Given the description of an element on the screen output the (x, y) to click on. 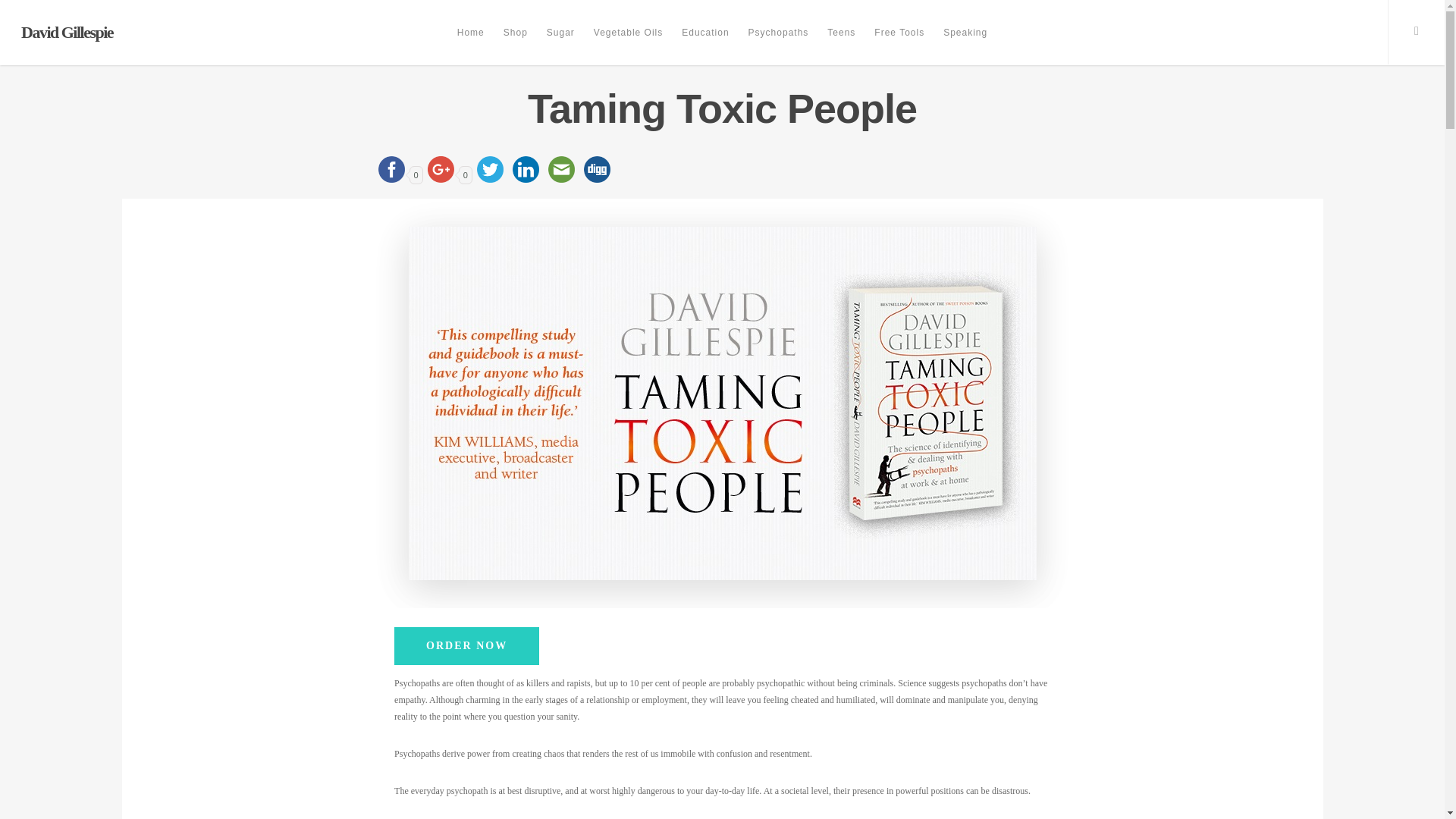
Free Tools (898, 43)
Teens (841, 43)
Twitter (489, 169)
ORDER NOW (466, 646)
Home (470, 43)
Facebook (390, 169)
Shop (515, 43)
Psychopaths (778, 43)
Vegetable Oils (627, 43)
LinkedIn (525, 169)
David Gillespie (67, 32)
Digg (596, 169)
Speaking (965, 43)
Email (561, 169)
Sugar (560, 43)
